Given the description of an element on the screen output the (x, y) to click on. 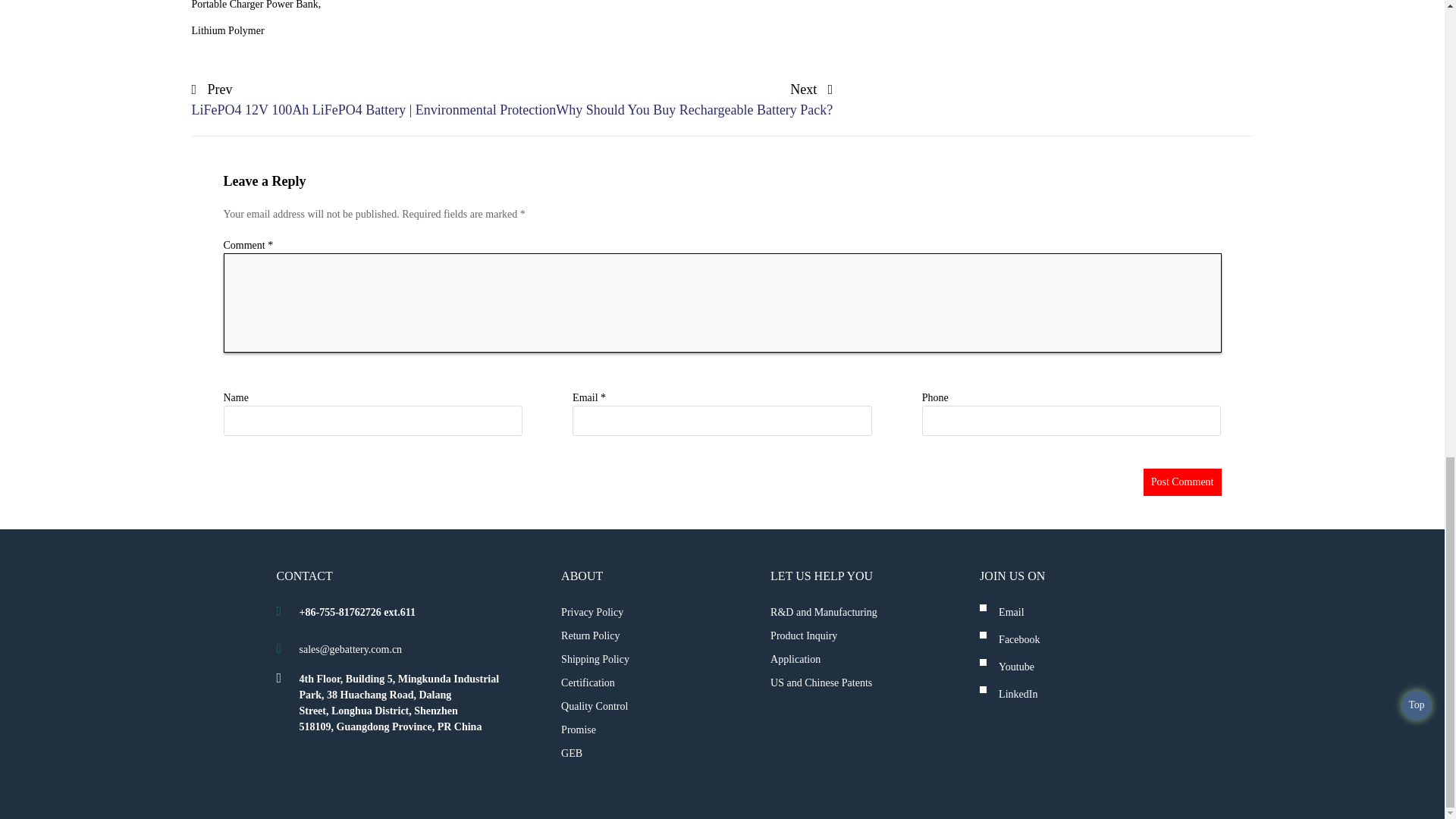
Post Comment (1181, 482)
